Given the description of an element on the screen output the (x, y) to click on. 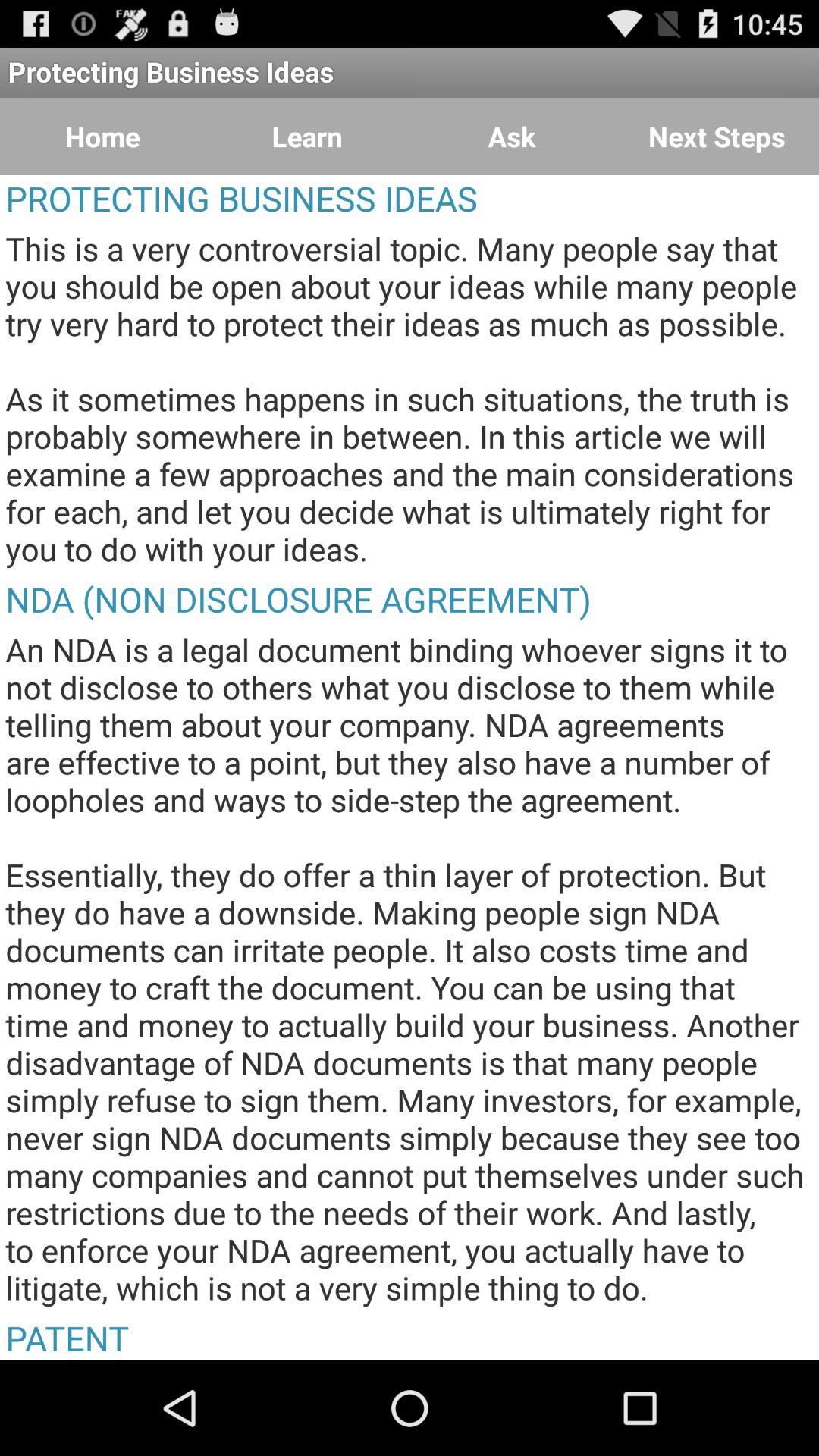
press item below protecting business ideas app (306, 136)
